Given the description of an element on the screen output the (x, y) to click on. 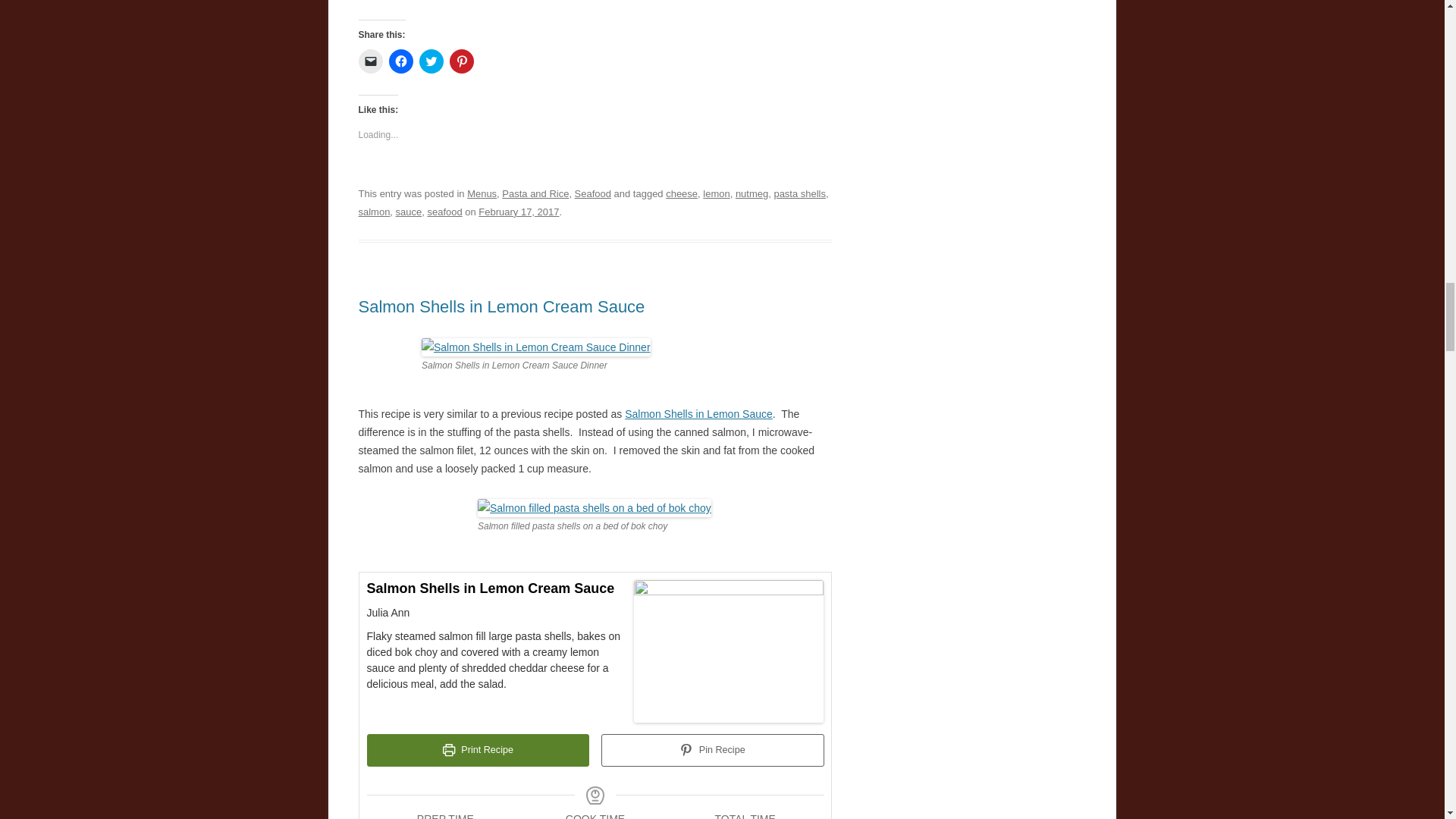
Click to share on Twitter (430, 61)
1:00 pm (519, 211)
Click to share on Pinterest (460, 61)
Click to email a link to a friend (369, 61)
Click to share on Facebook (400, 61)
